Given the description of an element on the screen output the (x, y) to click on. 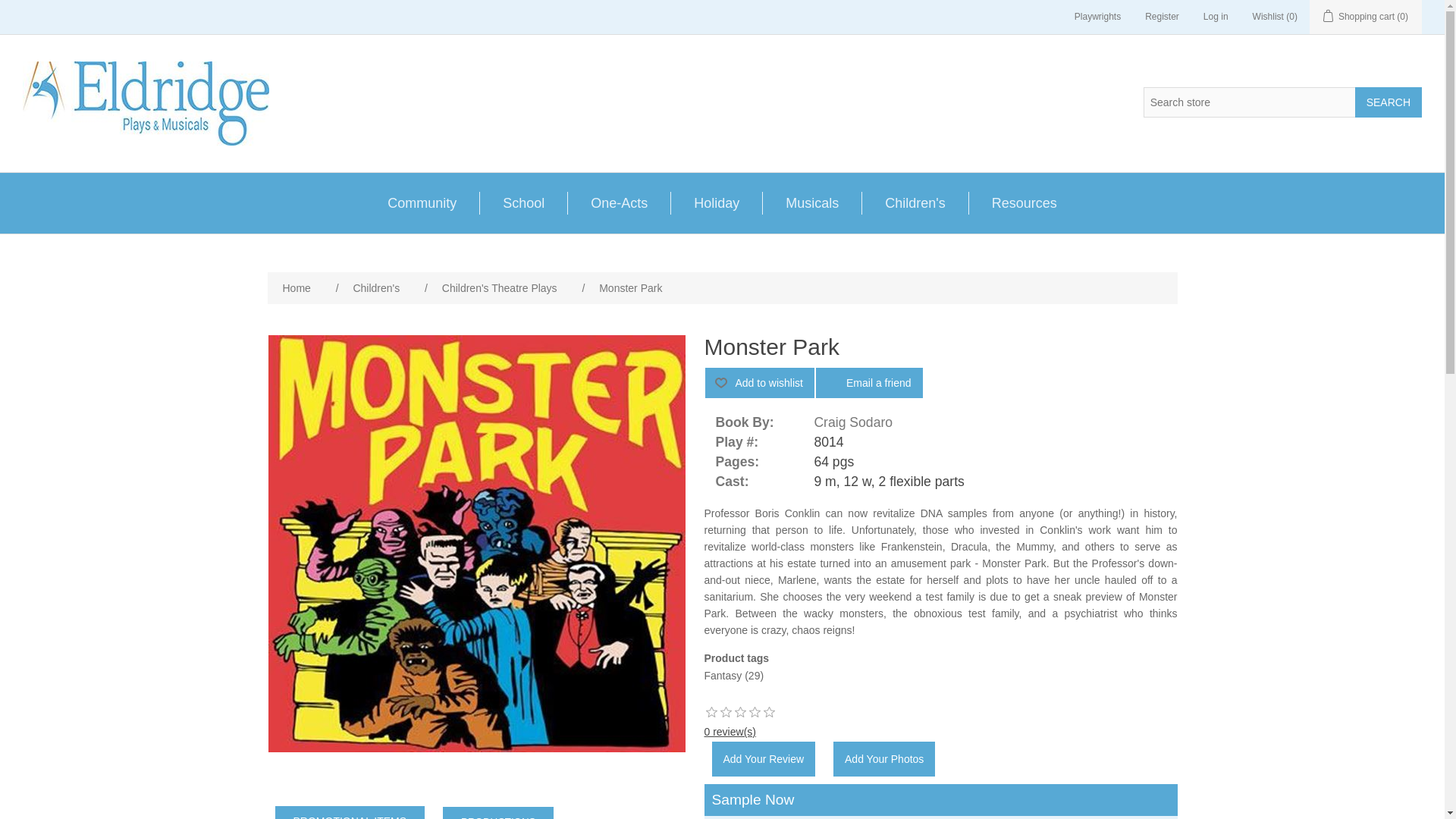
Playwrights (1097, 17)
Search (1388, 101)
School (523, 202)
Add to wishlist (758, 382)
Musicals (811, 202)
Community (422, 202)
One-Acts (619, 202)
Search (1388, 101)
Holiday (715, 202)
Search (1388, 101)
